Given the description of an element on the screen output the (x, y) to click on. 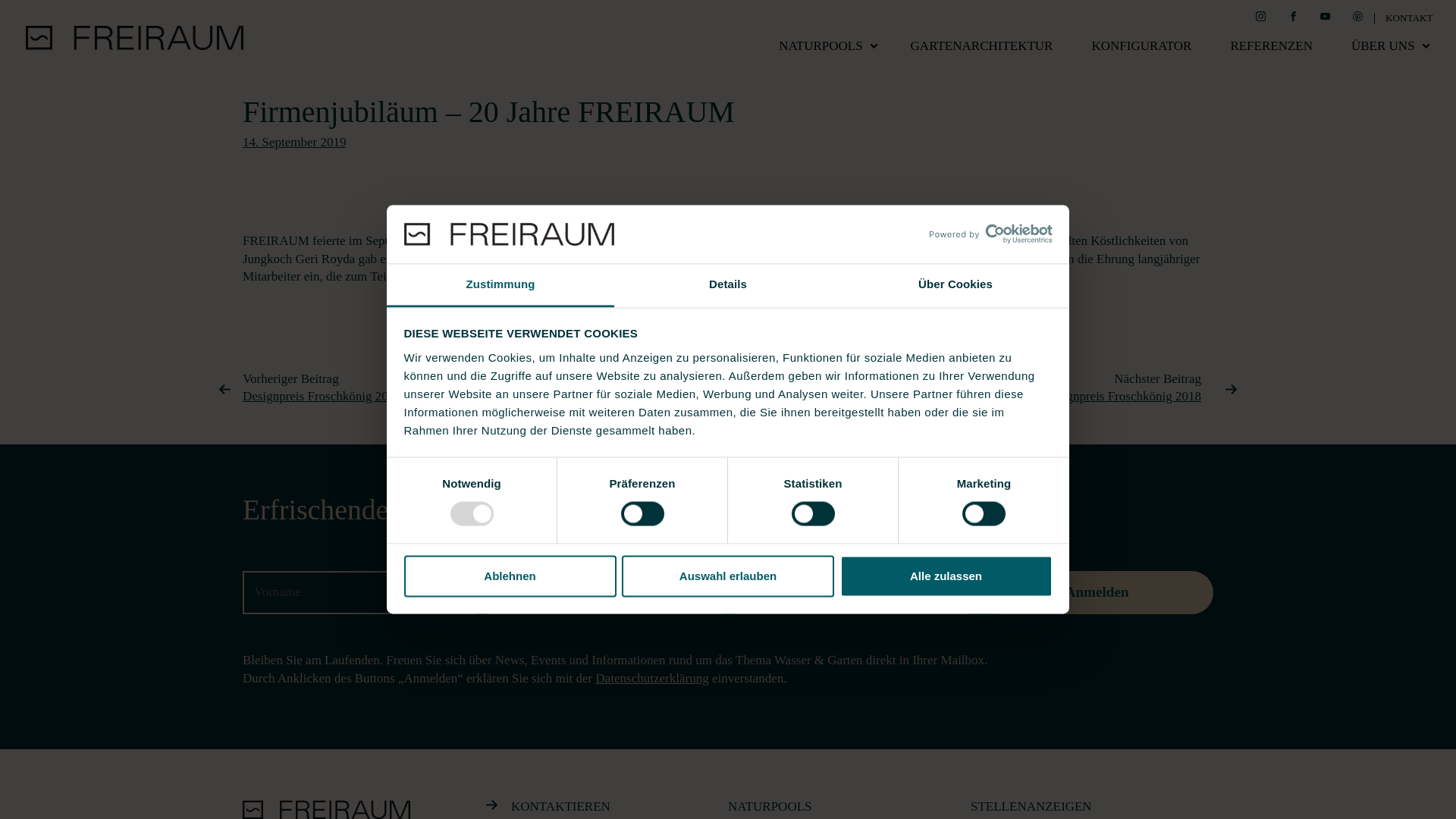
YOUTUBE Element type: text (1325, 18)
Auswahl erlauben Element type: text (727, 575)
14. September 2019 Element type: text (293, 141)
PINTEREST Element type: text (1358, 18)
INSTAGRAM Element type: text (1260, 18)
Ablehnen Element type: text (509, 575)
KONFIGURATOR Element type: text (1141, 45)
KONTAKT Element type: text (1408, 18)
Anmelden Element type: text (1096, 592)
NATURPOOLS Element type: text (820, 45)
FACEBOOK Element type: text (1292, 18)
Alle zulassen Element type: text (946, 575)
GARTENARCHITEKTUR Element type: text (981, 45)
Details Element type: text (727, 285)
REFERENZEN Element type: text (1271, 45)
Zustimmung Element type: text (500, 285)
